Given the description of an element on the screen output the (x, y) to click on. 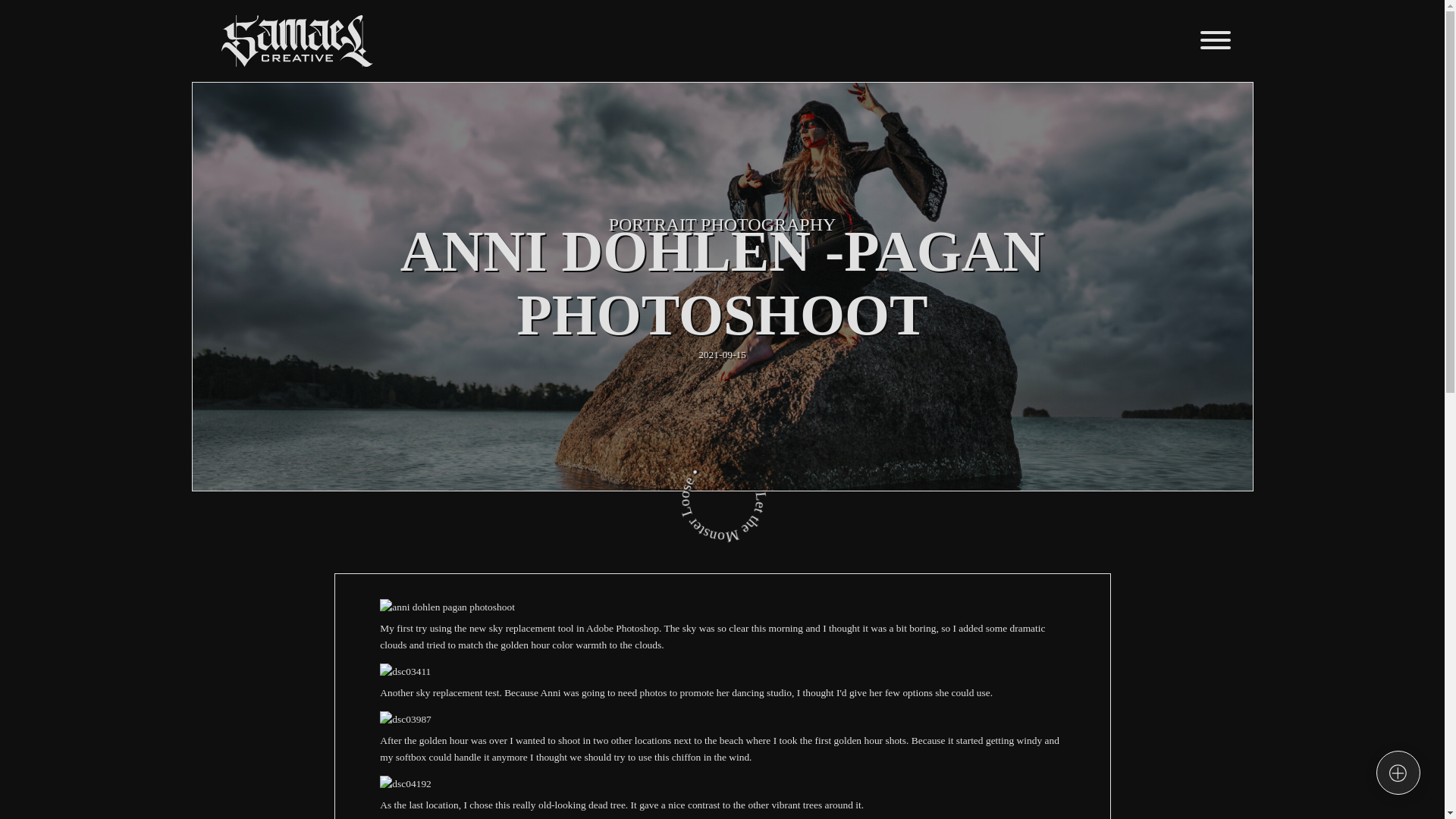
PORTRAIT PHOTOGRAPHY (721, 224)
